Given the description of an element on the screen output the (x, y) to click on. 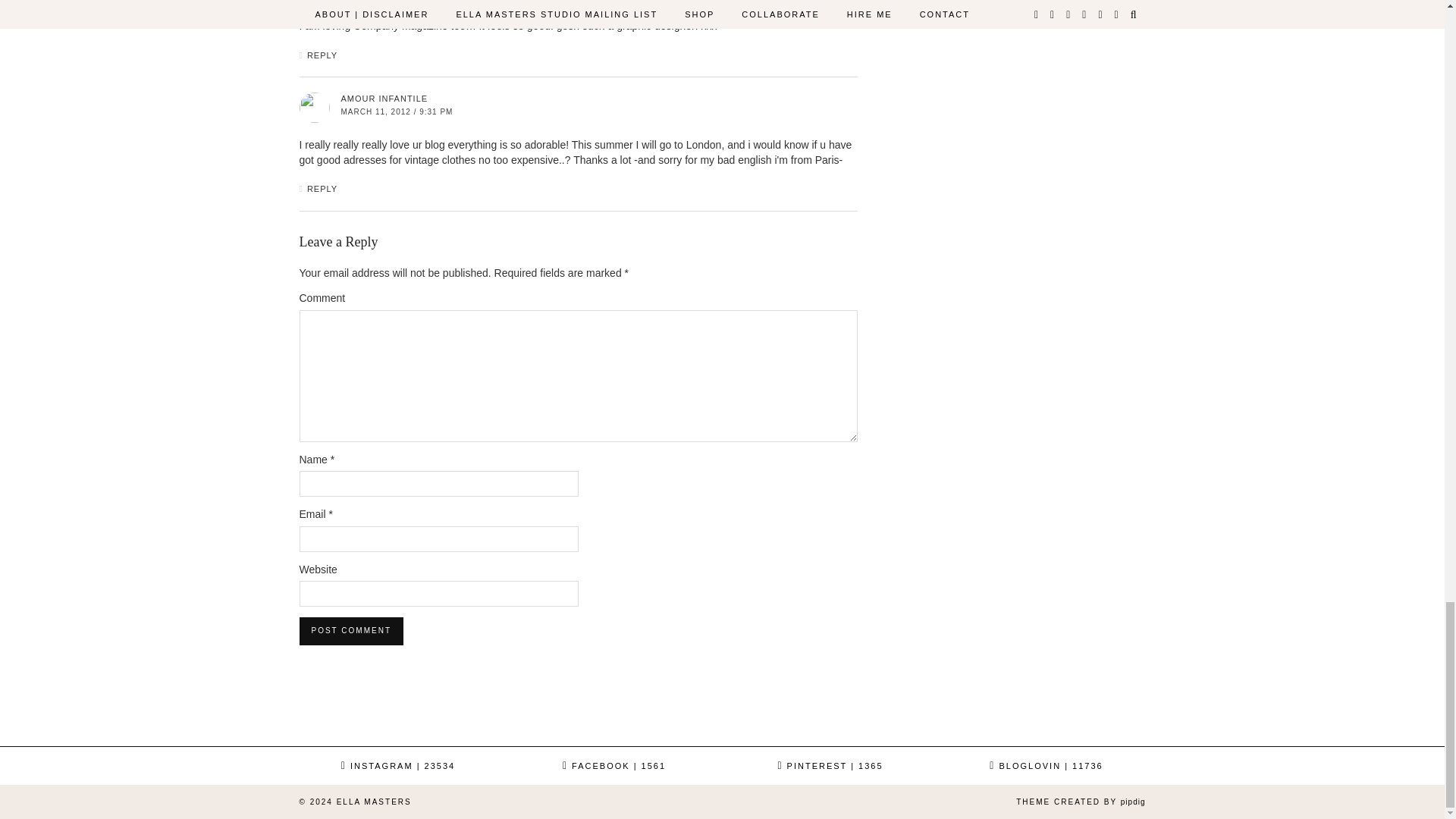
Post Comment (350, 630)
